Given the description of an element on the screen output the (x, y) to click on. 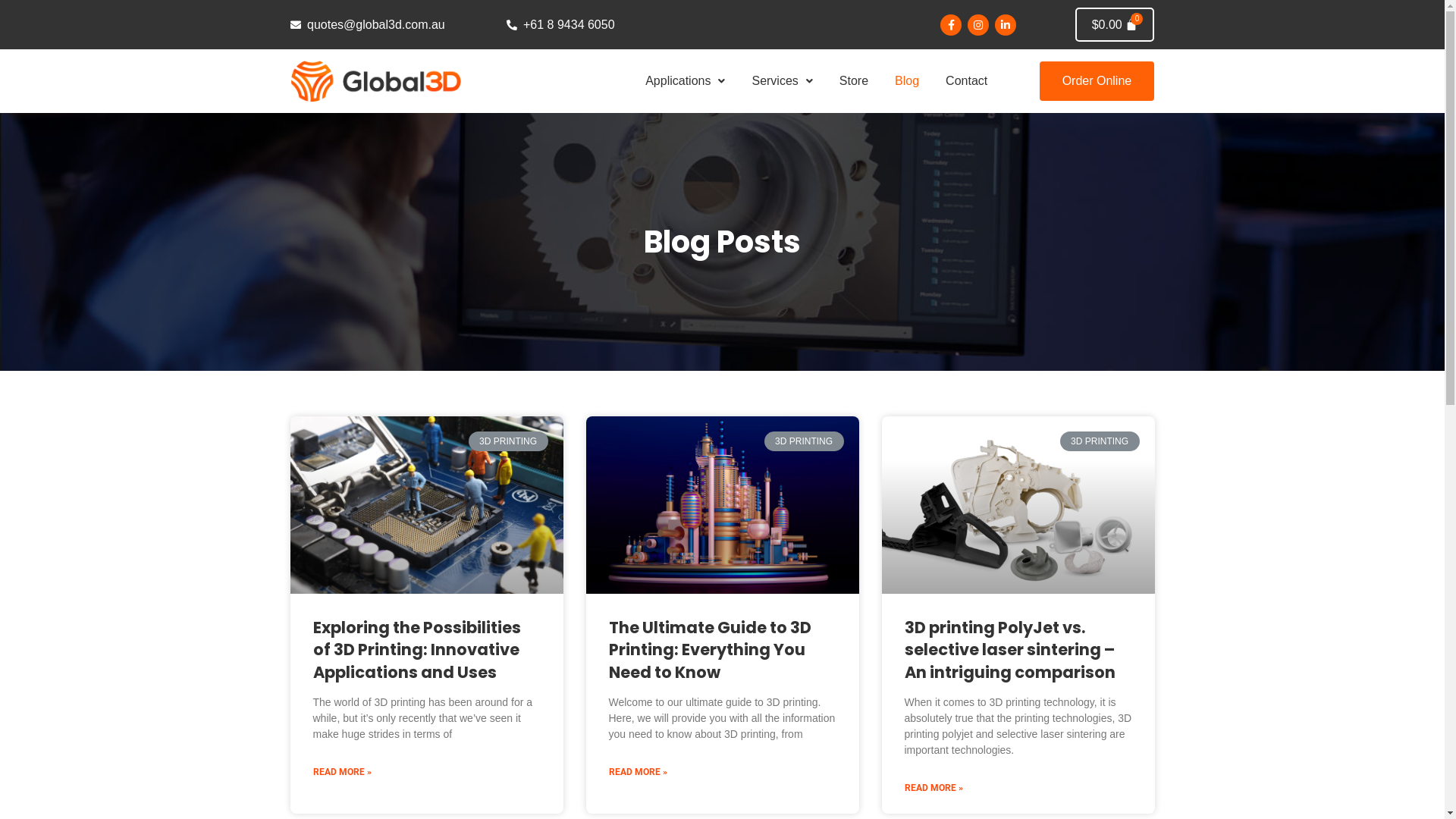
Order Online Element type: text (1096, 80)
Facebook-f Element type: text (950, 23)
Applications Element type: text (684, 81)
+61 8 9434 6050 Element type: text (614, 24)
$0.00
Cart Element type: text (1114, 24)
Contact Element type: text (966, 81)
Linkedin-in Element type: text (1005, 23)
Blog Element type: text (906, 81)
Store Element type: text (853, 81)
Instagram Element type: text (977, 23)
Services Element type: text (781, 81)
quotes@global3d.com.au Element type: text (397, 24)
